Given the description of an element on the screen output the (x, y) to click on. 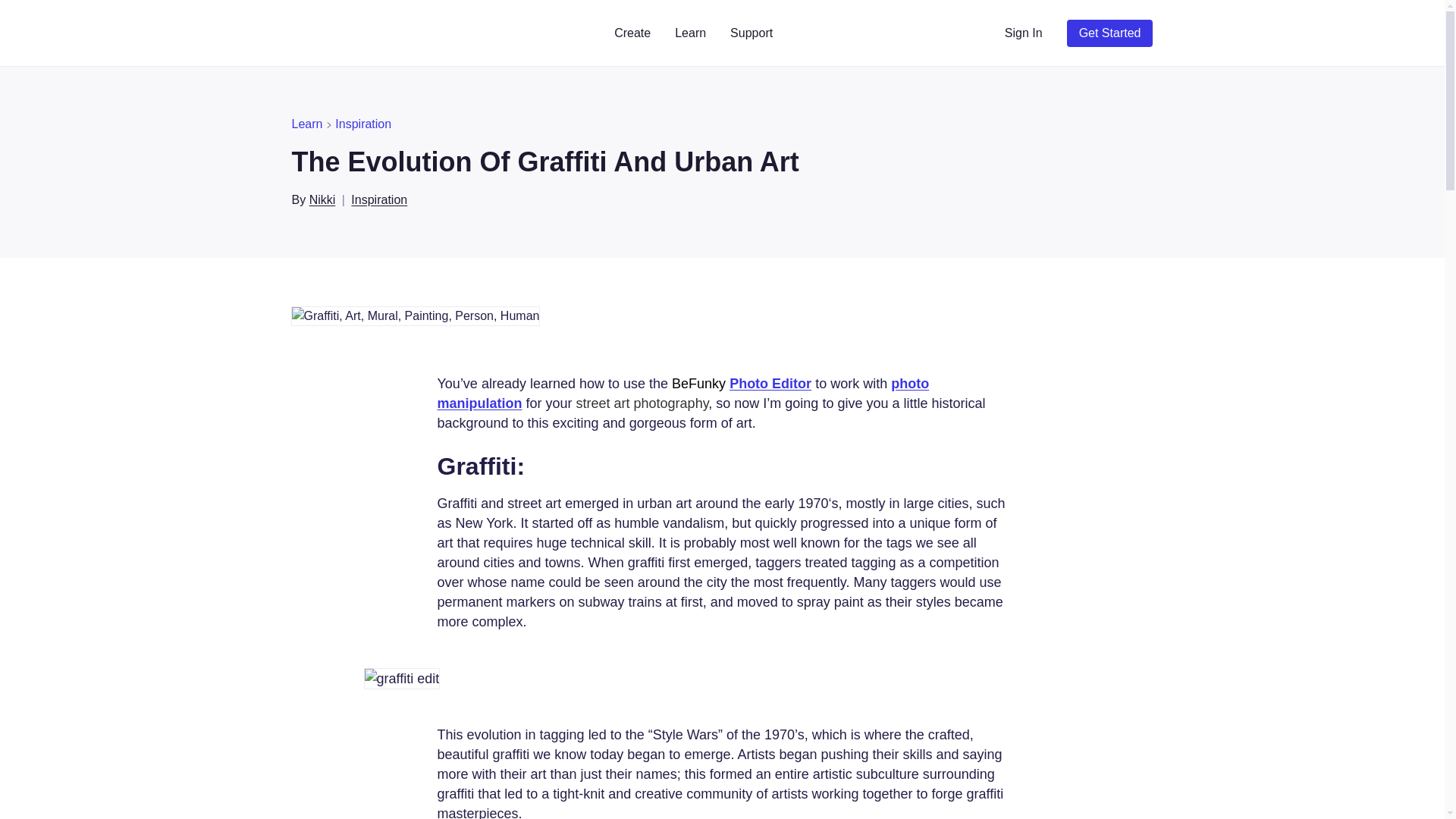
Support (750, 32)
BeFunky (342, 33)
Get Started (1110, 32)
Sign In (1023, 32)
